Given the description of an element on the screen output the (x, y) to click on. 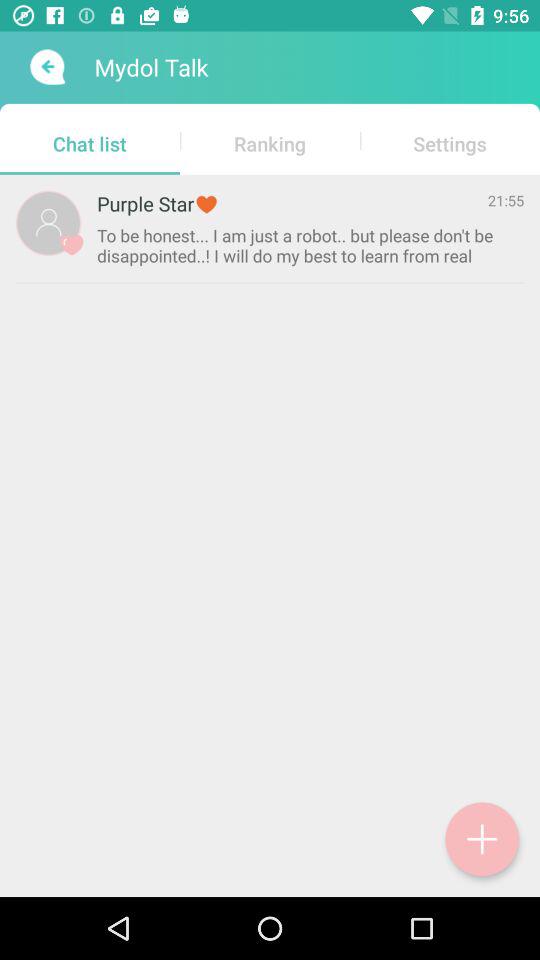
choose icon to the left of mydol talk item (45, 67)
